Given the description of an element on the screen output the (x, y) to click on. 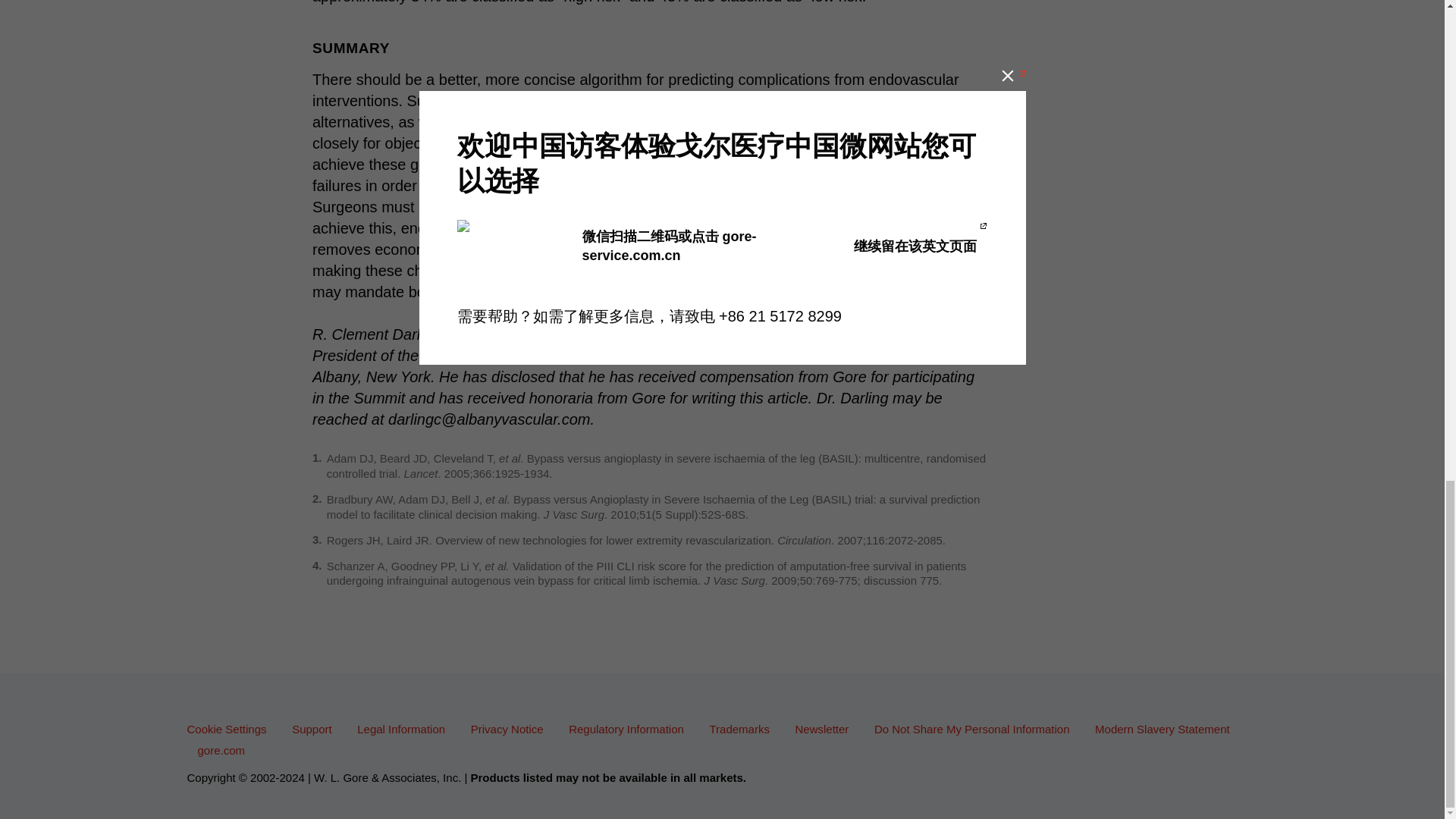
Trademarks (743, 728)
Cookie Settings (231, 728)
Regulatory Information (631, 728)
Modern Slavery Statement (1167, 728)
Support (317, 728)
Legal Information (405, 728)
gore.com (226, 749)
Privacy Notice (512, 728)
Newsletter (826, 728)
Do Not Share My Personal Information (977, 728)
